Given the description of an element on the screen output the (x, y) to click on. 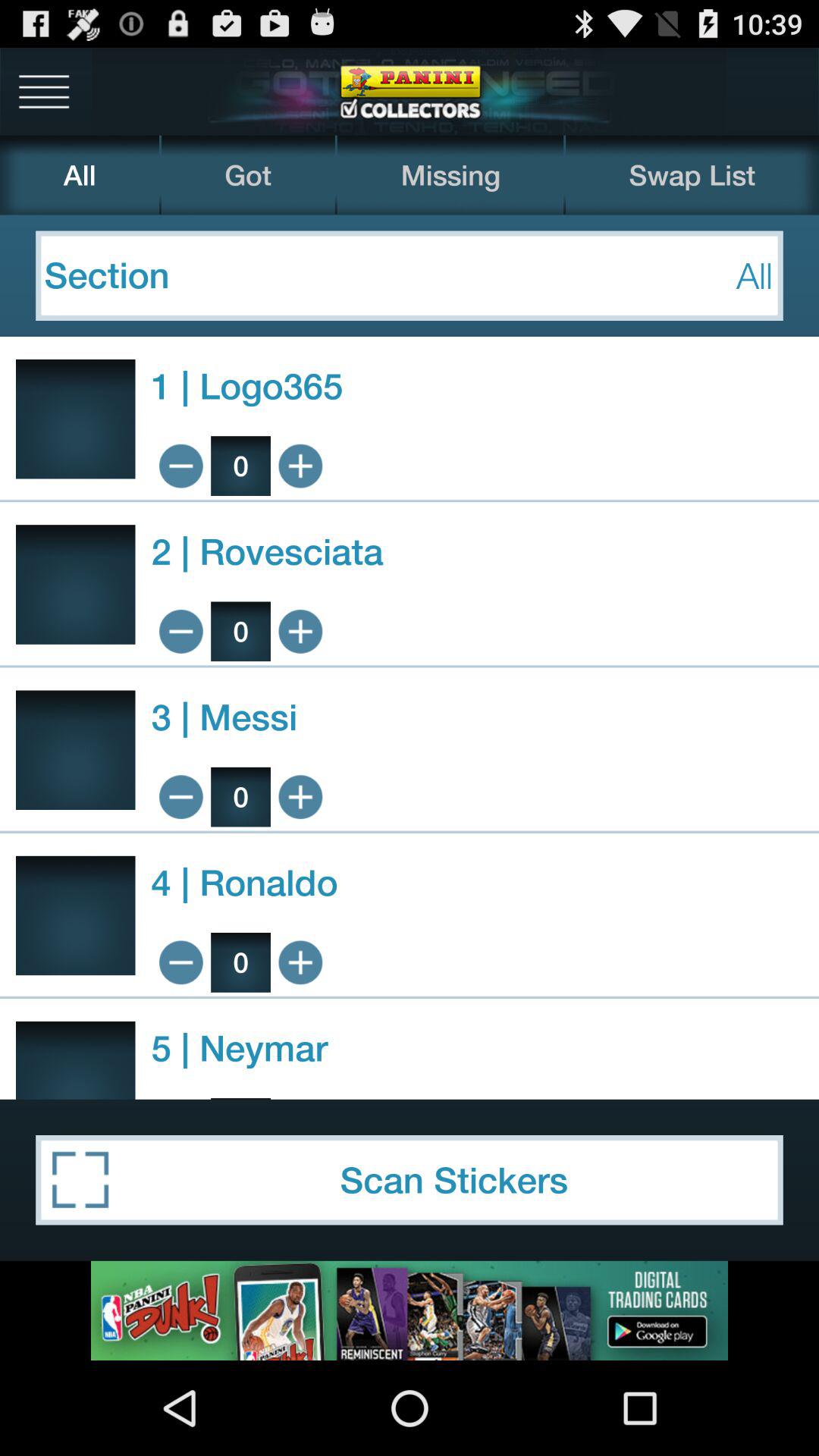
add one (300, 962)
